Given the description of an element on the screen output the (x, y) to click on. 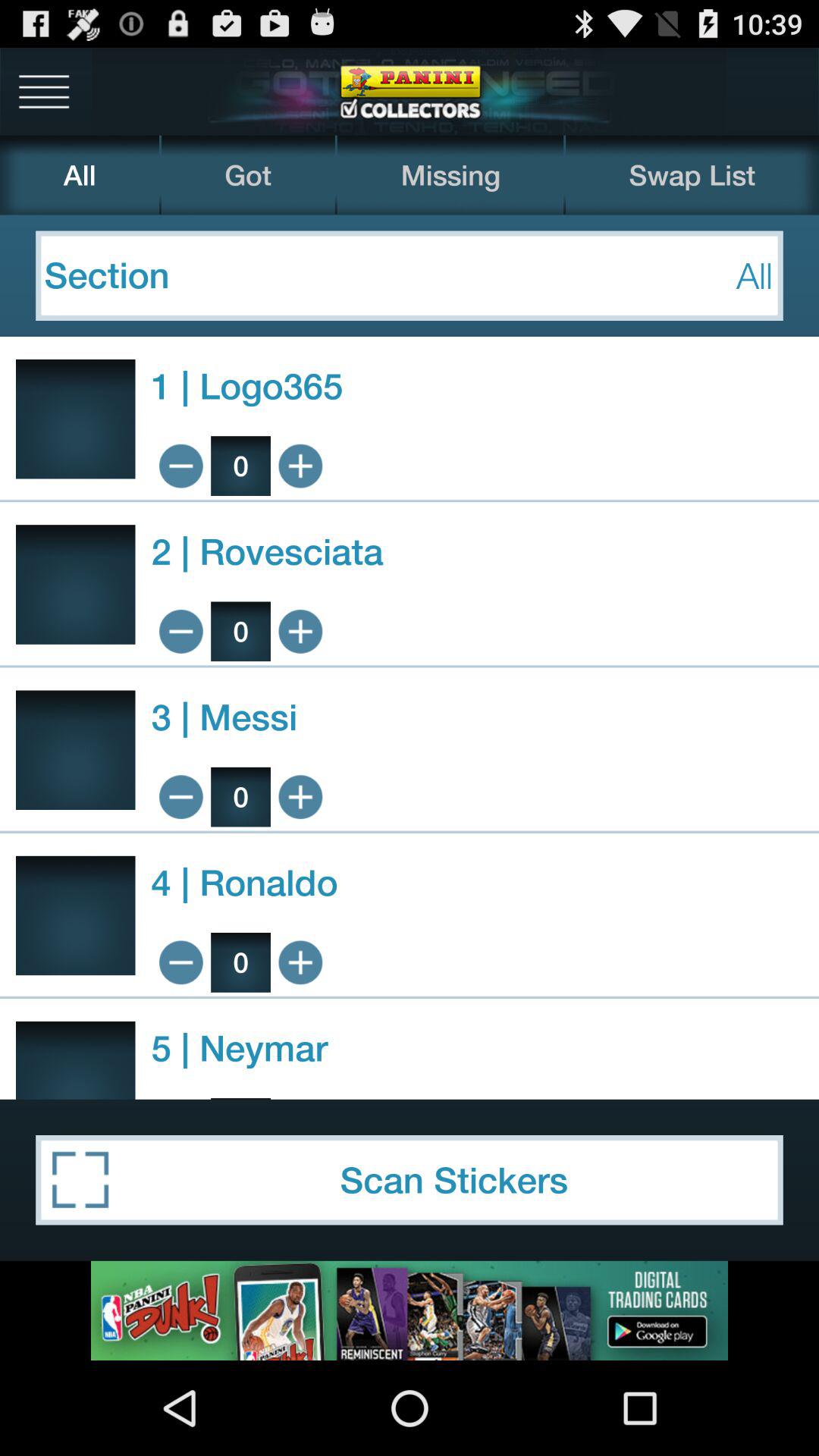
add one (300, 962)
